Given the description of an element on the screen output the (x, y) to click on. 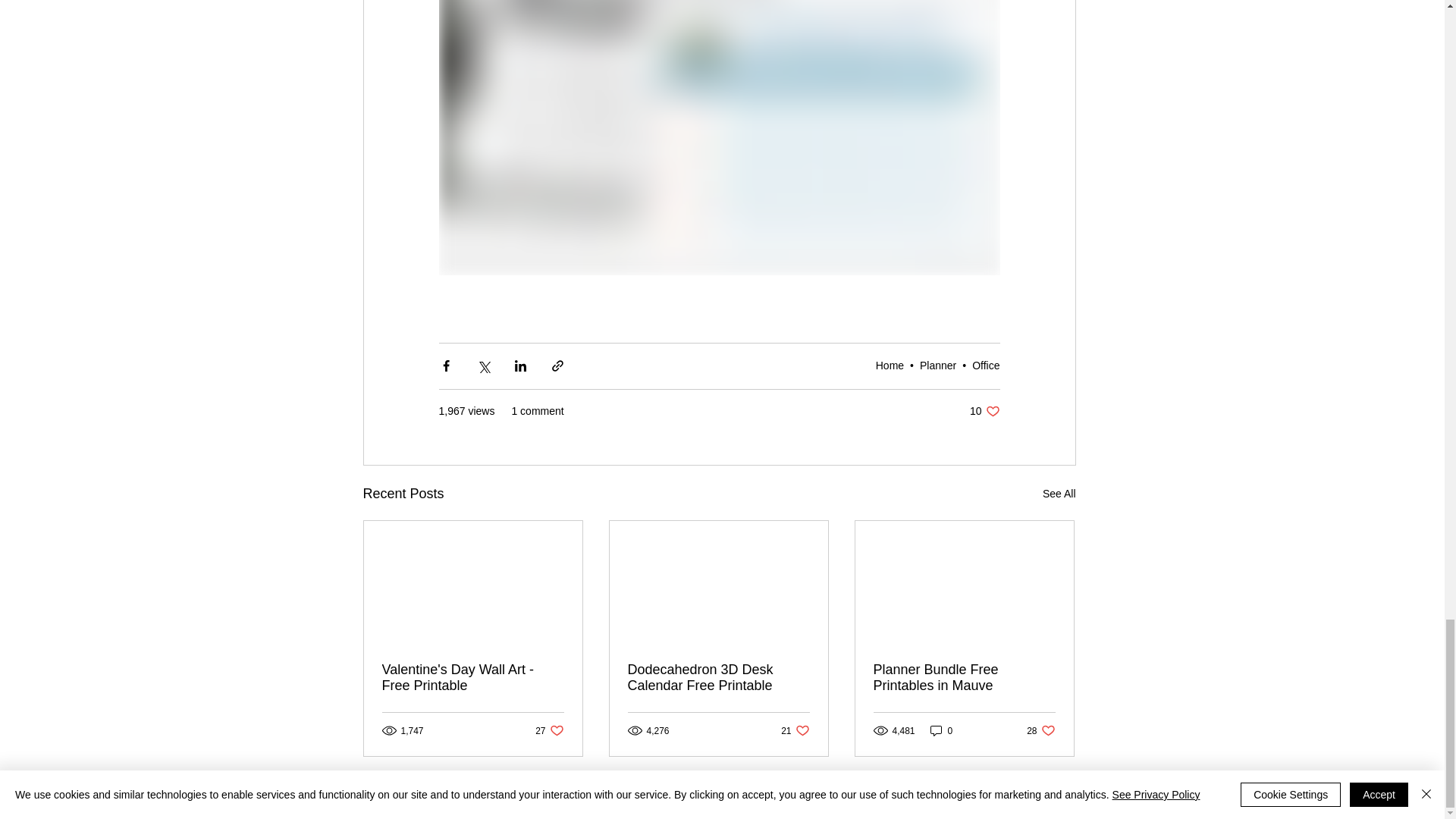
Office (1040, 730)
Valentine's Day Wall Art - Free Printable (985, 365)
Planner Bundle Free Printables in Mauve (794, 730)
See All (472, 677)
0 (964, 677)
Home (1058, 494)
Dodecahedron 3D Desk Calendar Free Printable (941, 730)
Planner (890, 365)
